Given the description of an element on the screen output the (x, y) to click on. 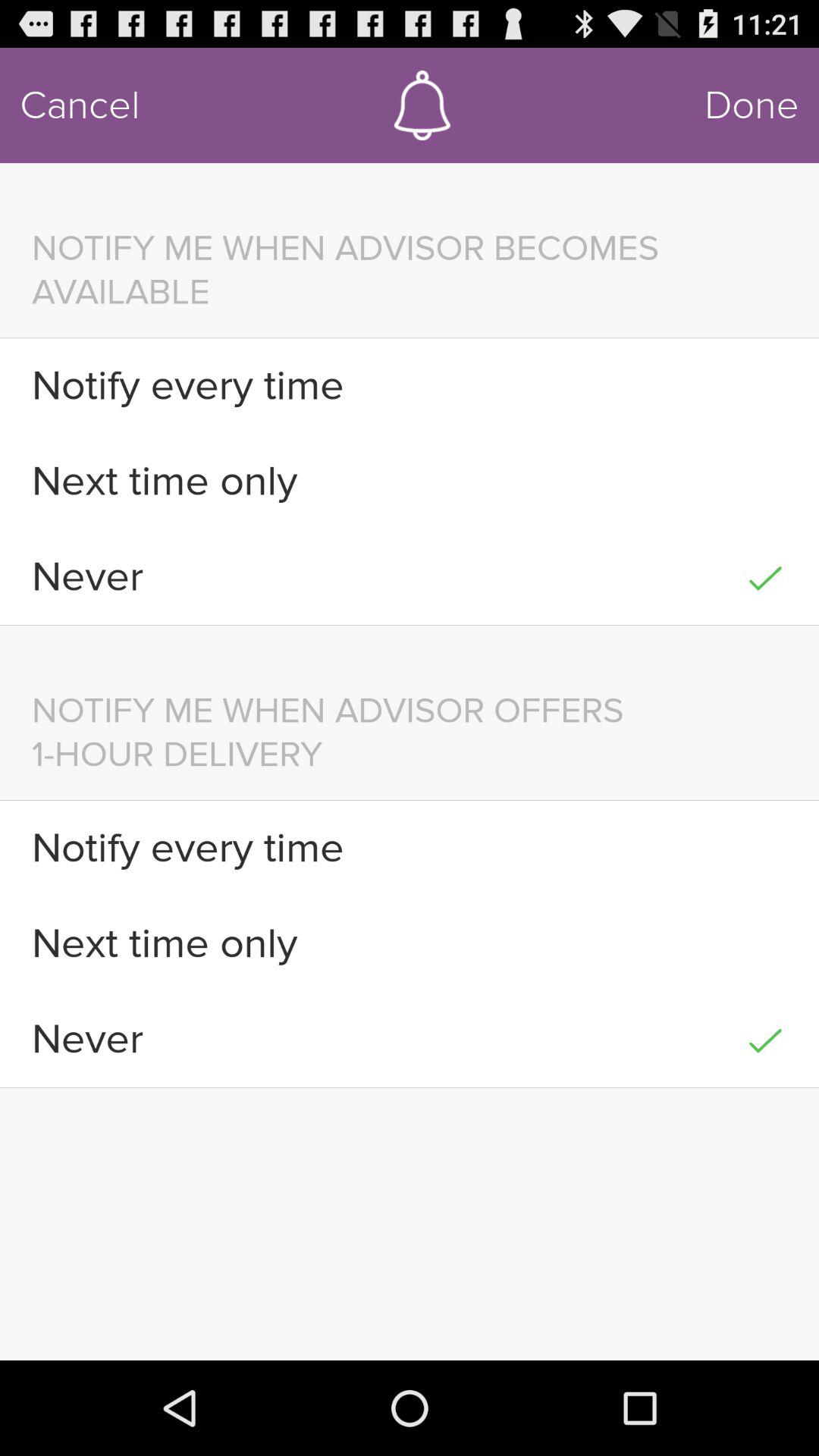
click the item next to next time only item (765, 943)
